Given the description of an element on the screen output the (x, y) to click on. 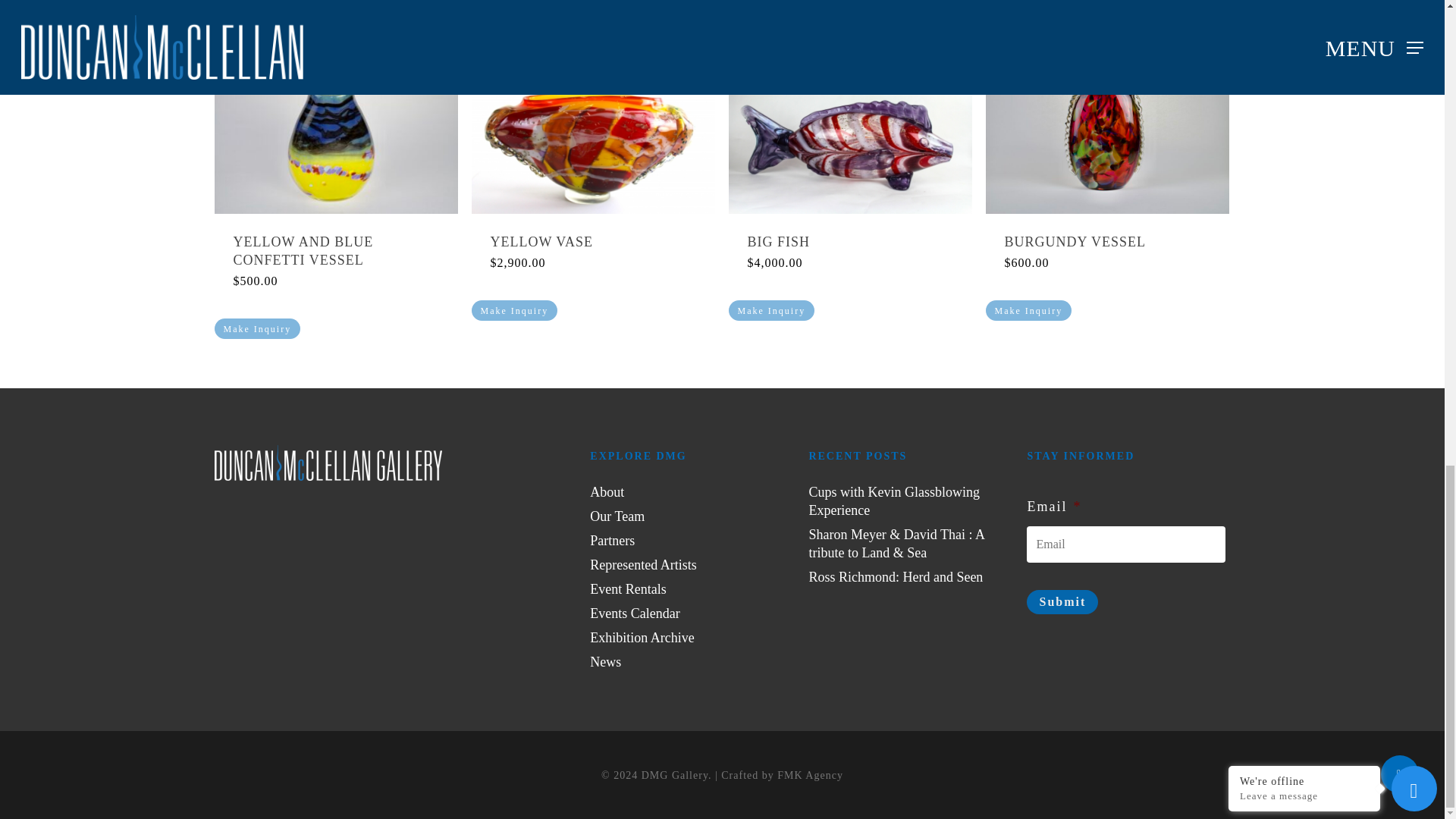
Make Inquiry (1028, 310)
BURGUNDY VESSEL (1106, 242)
Make Inquiry (514, 310)
Submit (1061, 601)
YELLOW VASE (592, 242)
Make Inquiry (770, 310)
BIG FISH (850, 242)
YELLOW AND BLUE CONFETTI VESSEL (335, 251)
Make Inquiry (256, 328)
